Given the description of an element on the screen output the (x, y) to click on. 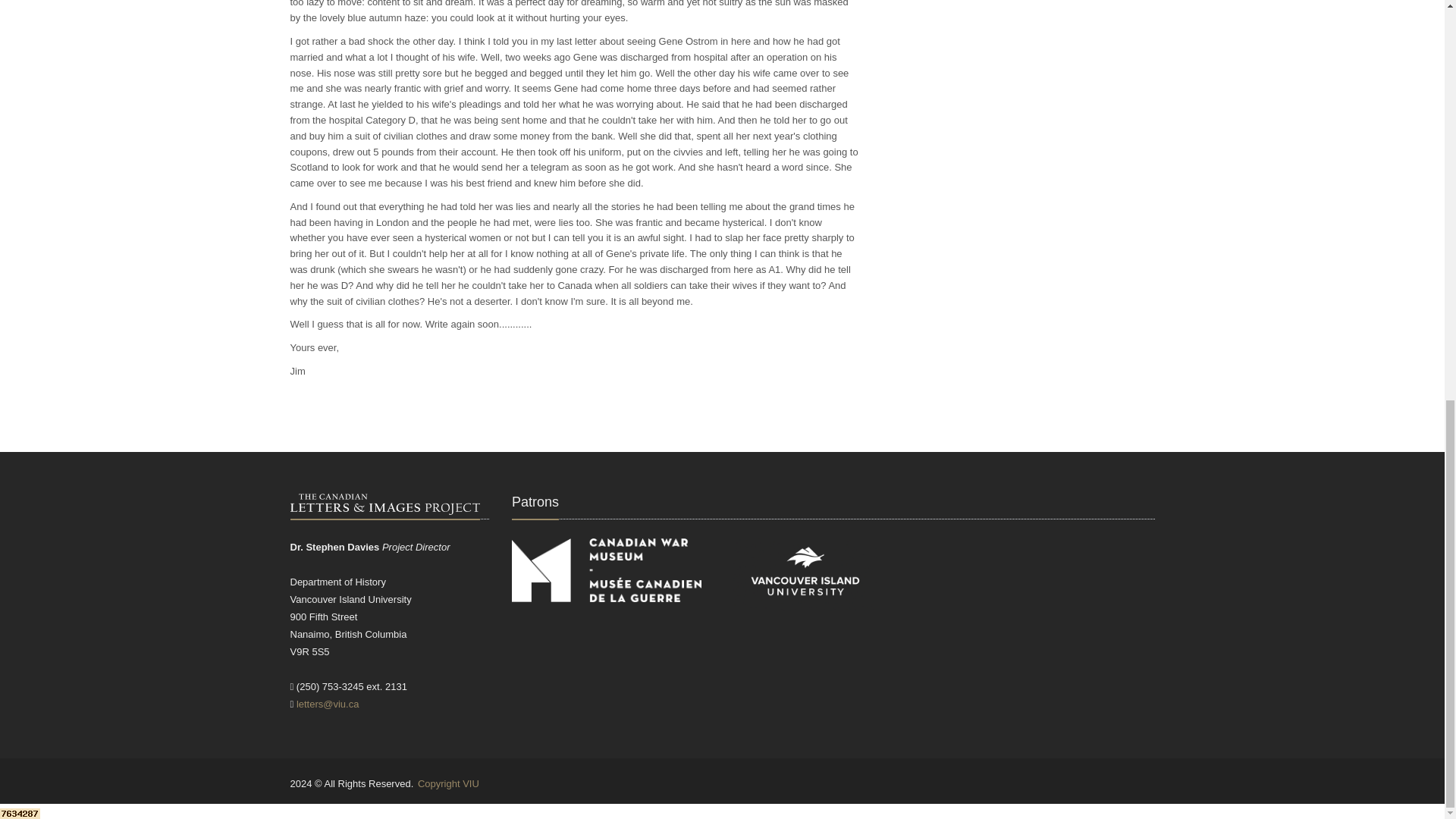
Copyright VIU (448, 783)
